Given the description of an element on the screen output the (x, y) to click on. 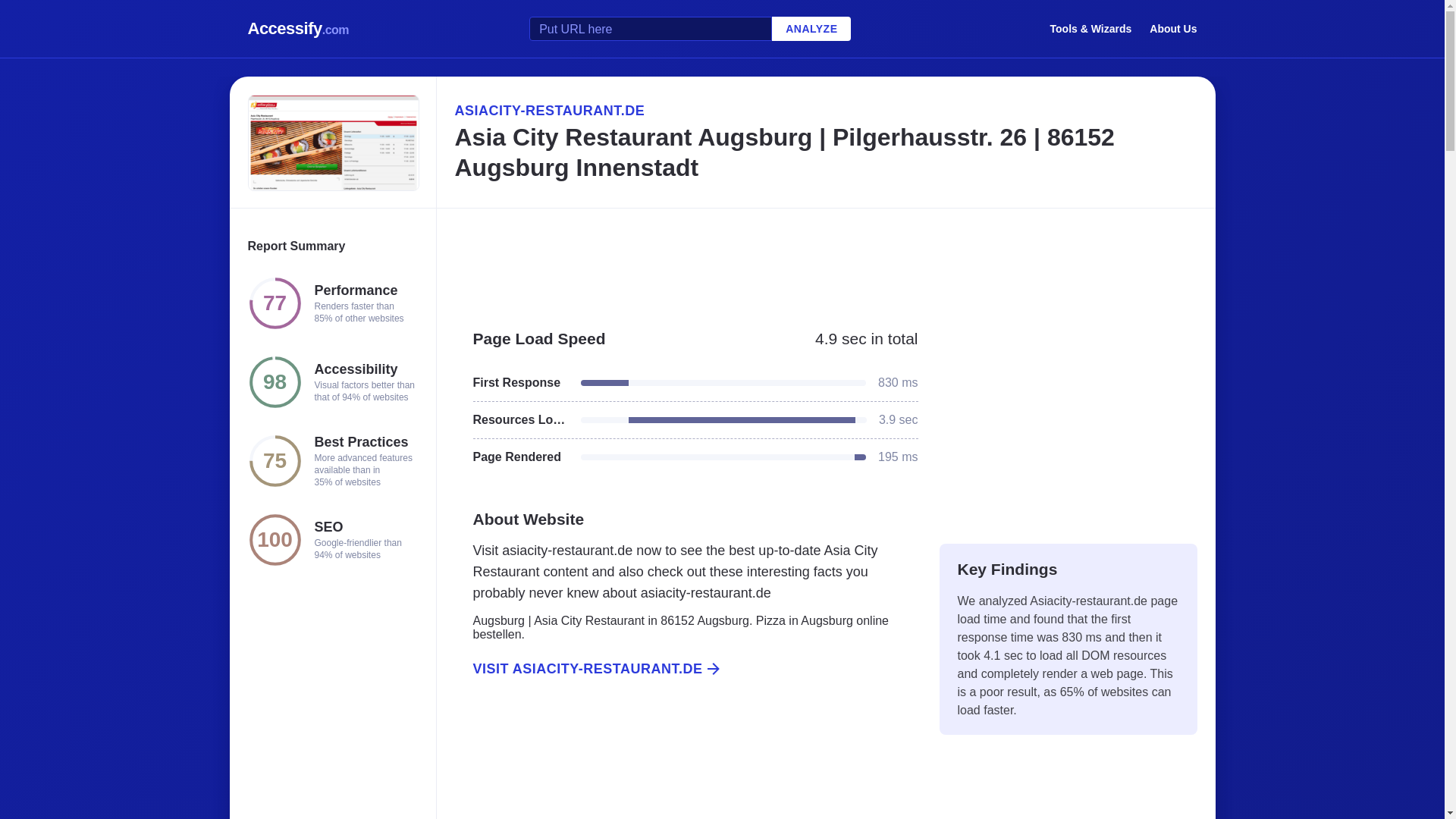
About Us (1173, 28)
Accessify.com (298, 28)
Advertisement (1067, 418)
VISIT ASIACITY-RESTAURANT.DE (686, 669)
Advertisement (825, 260)
ANALYZE (810, 28)
Advertisement (686, 765)
ASIACITY-RESTAURANT.DE (825, 110)
